Given the description of an element on the screen output the (x, y) to click on. 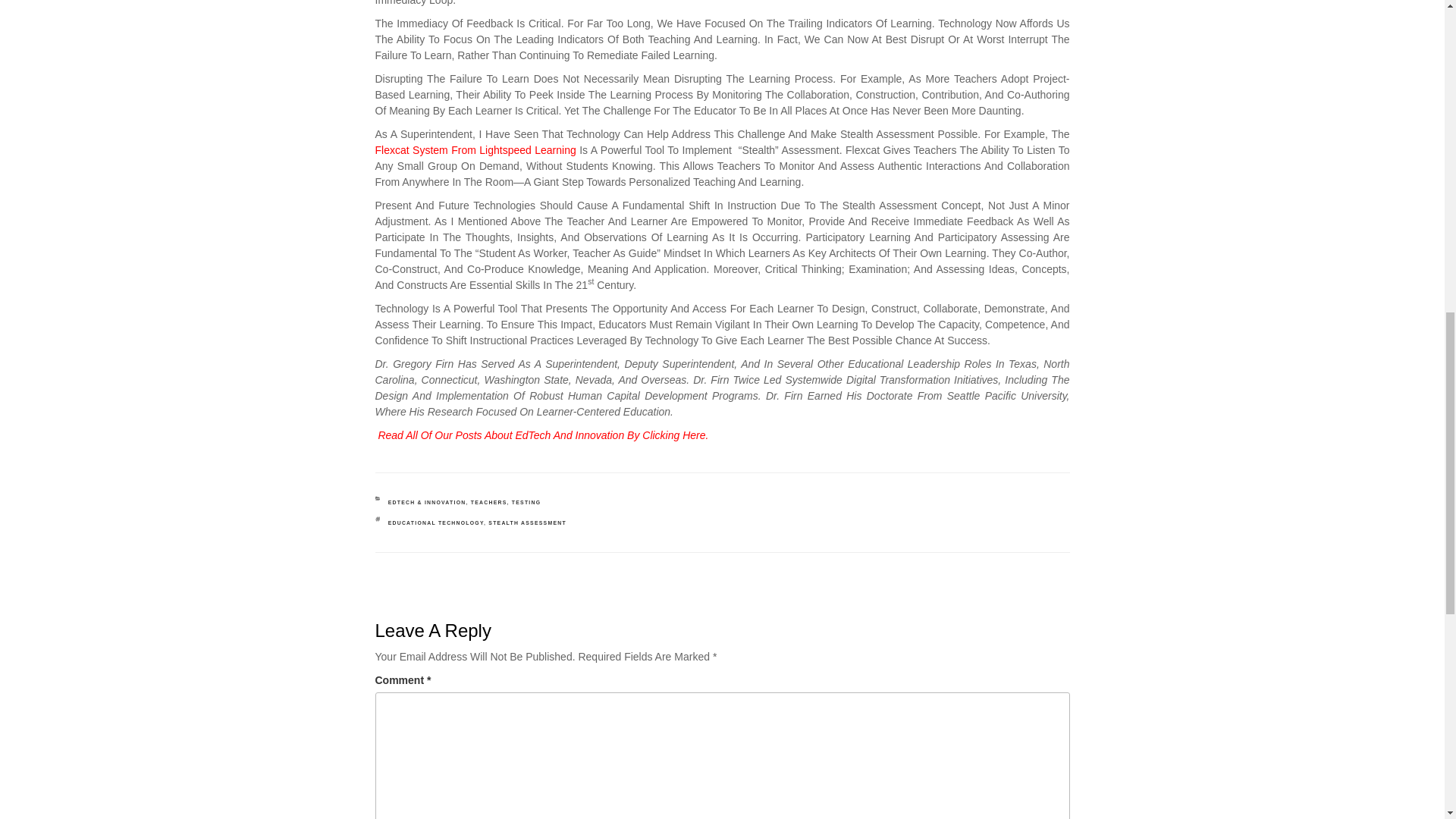
Flexcat System From Lightspeed Learning (476, 150)
STEALTH ASSESSMENT (526, 522)
EDUCATIONAL TECHNOLOGY (435, 522)
TEACHERS (488, 502)
TESTING (526, 502)
